Given the description of an element on the screen output the (x, y) to click on. 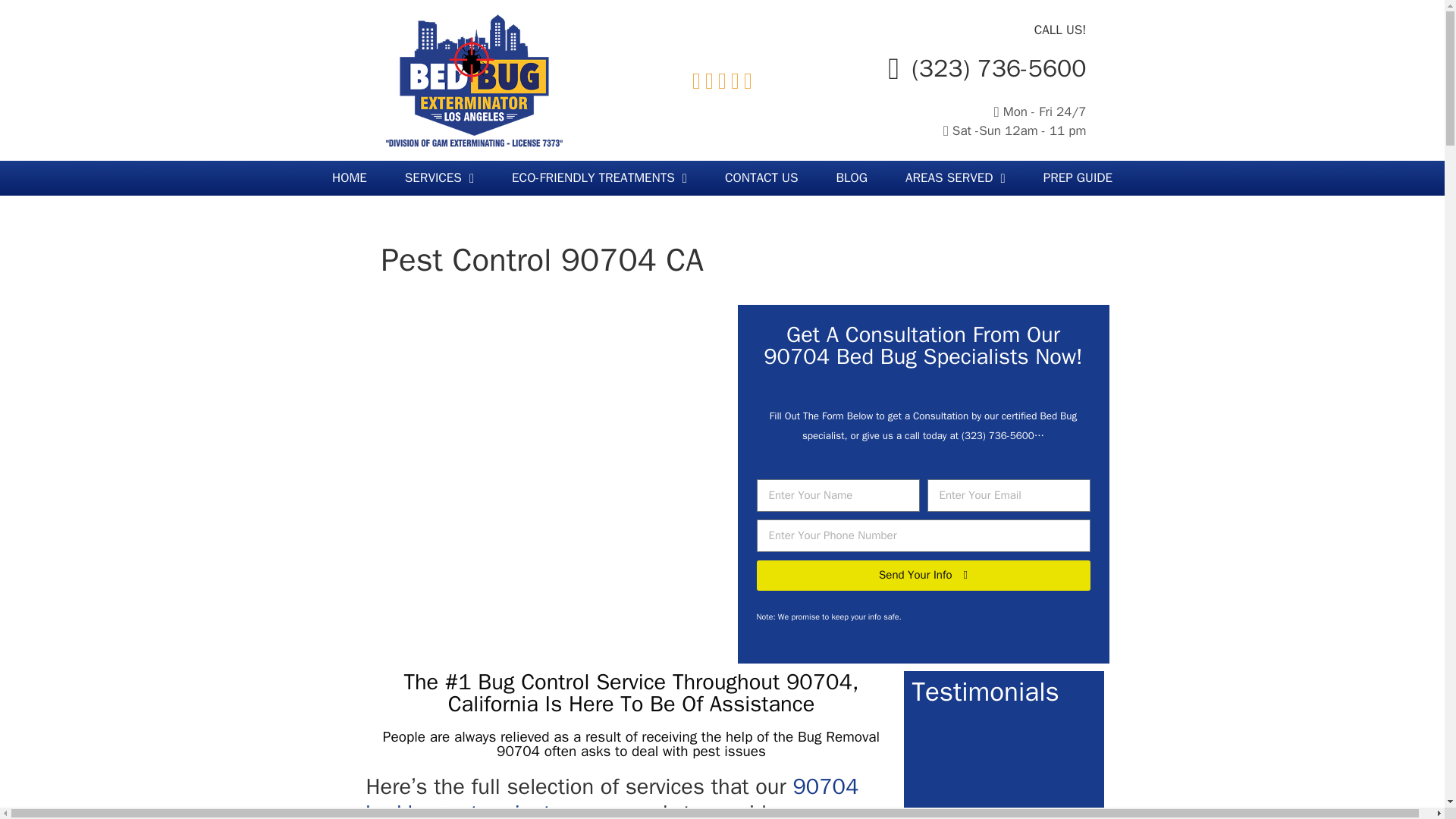
AREAS SERVED (955, 177)
BLOG (851, 177)
CONTACT US (761, 177)
HOME (349, 177)
SERVICES (439, 177)
ECO-FRIENDLY TREATMENTS (599, 177)
